Given the description of an element on the screen output the (x, y) to click on. 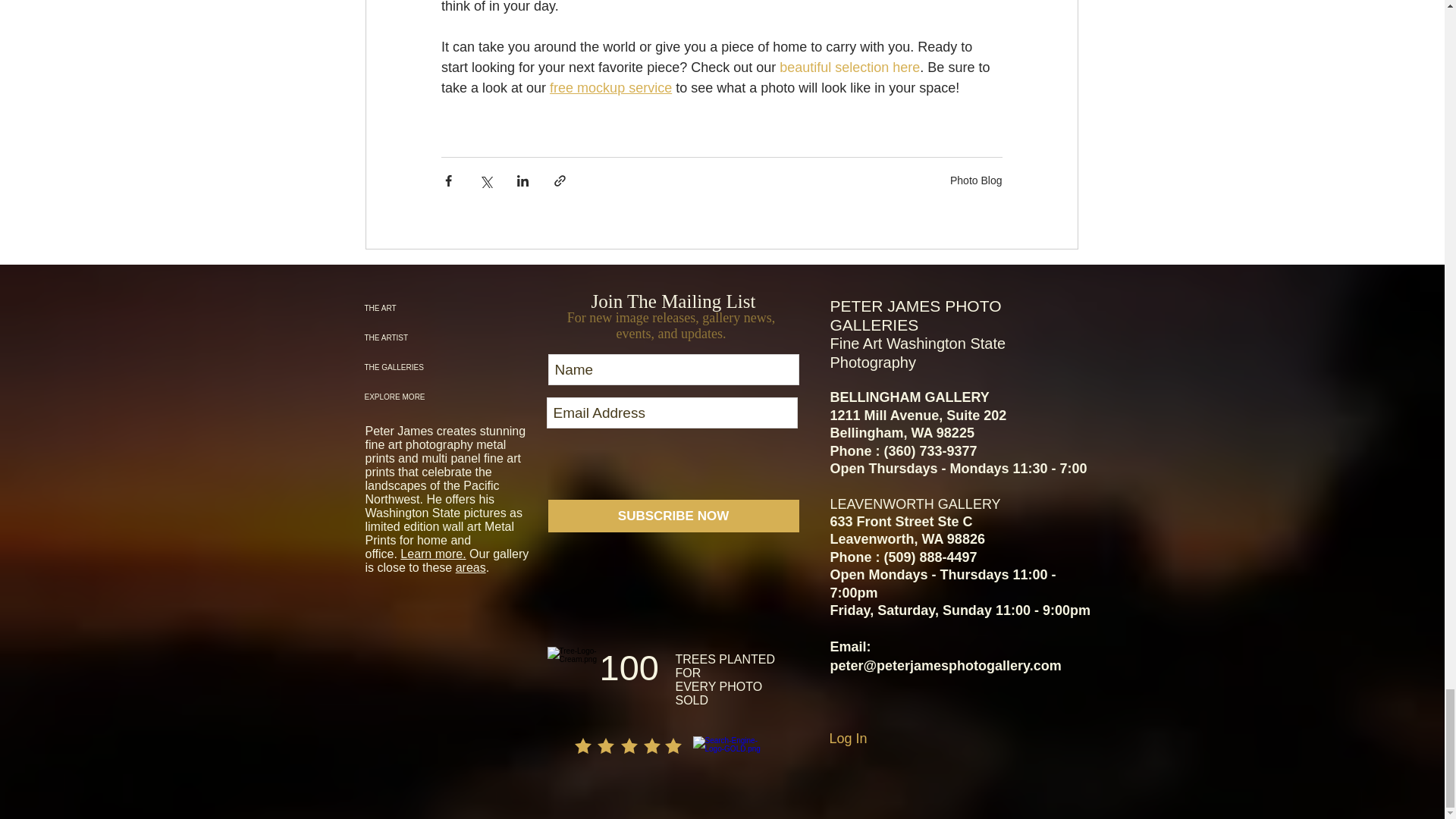
Metal Prints for home and office (440, 540)
THE ARTIST (441, 337)
BELLINGHAM GALLERY (908, 396)
SUBSCRIBE NOW (672, 515)
THE ART (441, 307)
areas (470, 567)
1211 Mill Avenue, Suite 202 (917, 415)
Bellingham, WA 98225 (901, 432)
PETER JAMES PHOTO GALLERIES (915, 316)
free mockup service (610, 87)
beautiful selection here (849, 67)
Photo Blog (976, 180)
Washington State pictures (435, 512)
THE GALLERIES (441, 367)
